Given the description of an element on the screen output the (x, y) to click on. 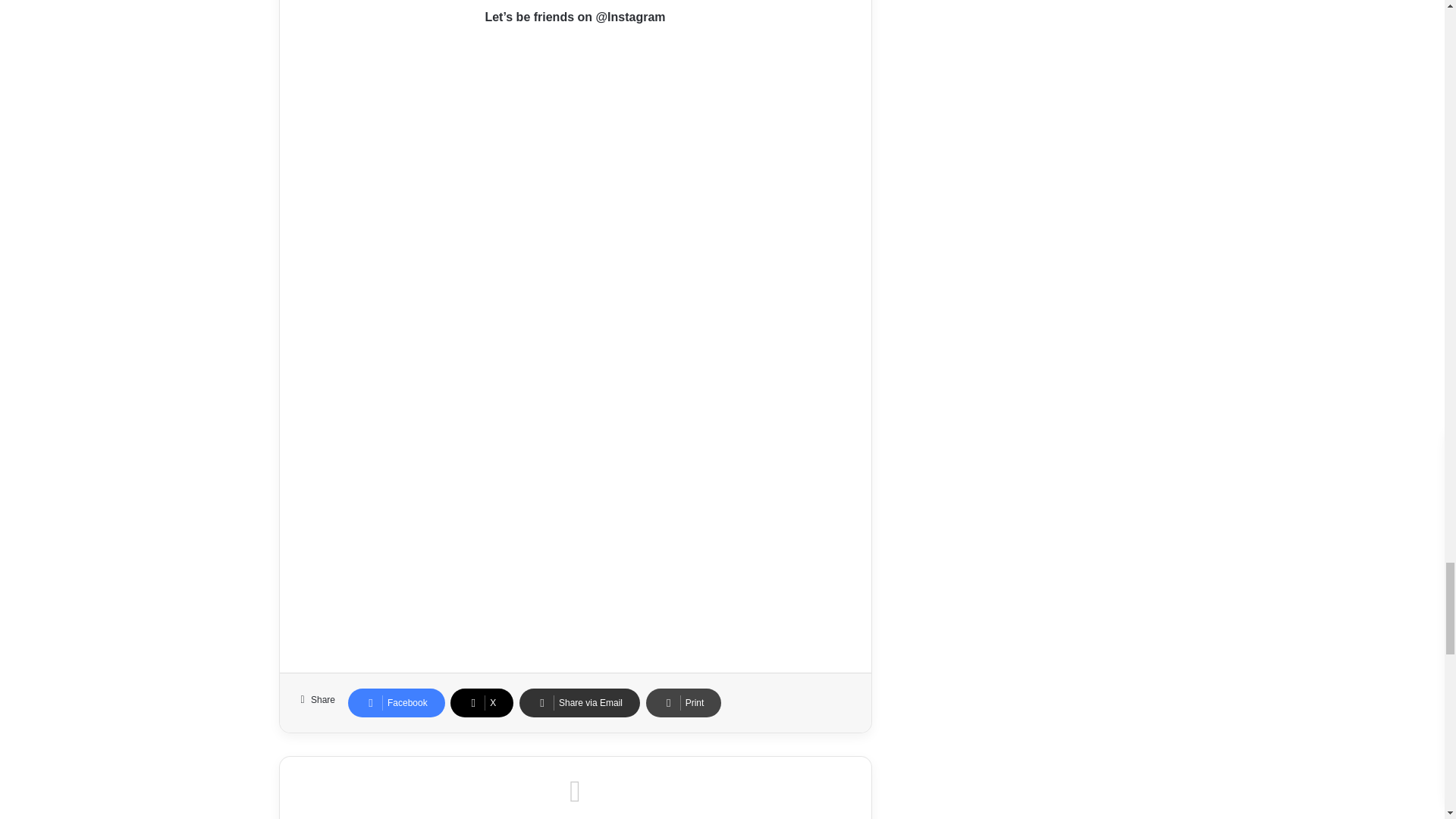
Facebook (396, 702)
Share via Email (579, 702)
X (481, 702)
Facebook (396, 702)
Share via Email (579, 702)
Print (684, 702)
X (481, 702)
Print (684, 702)
